Given the description of an element on the screen output the (x, y) to click on. 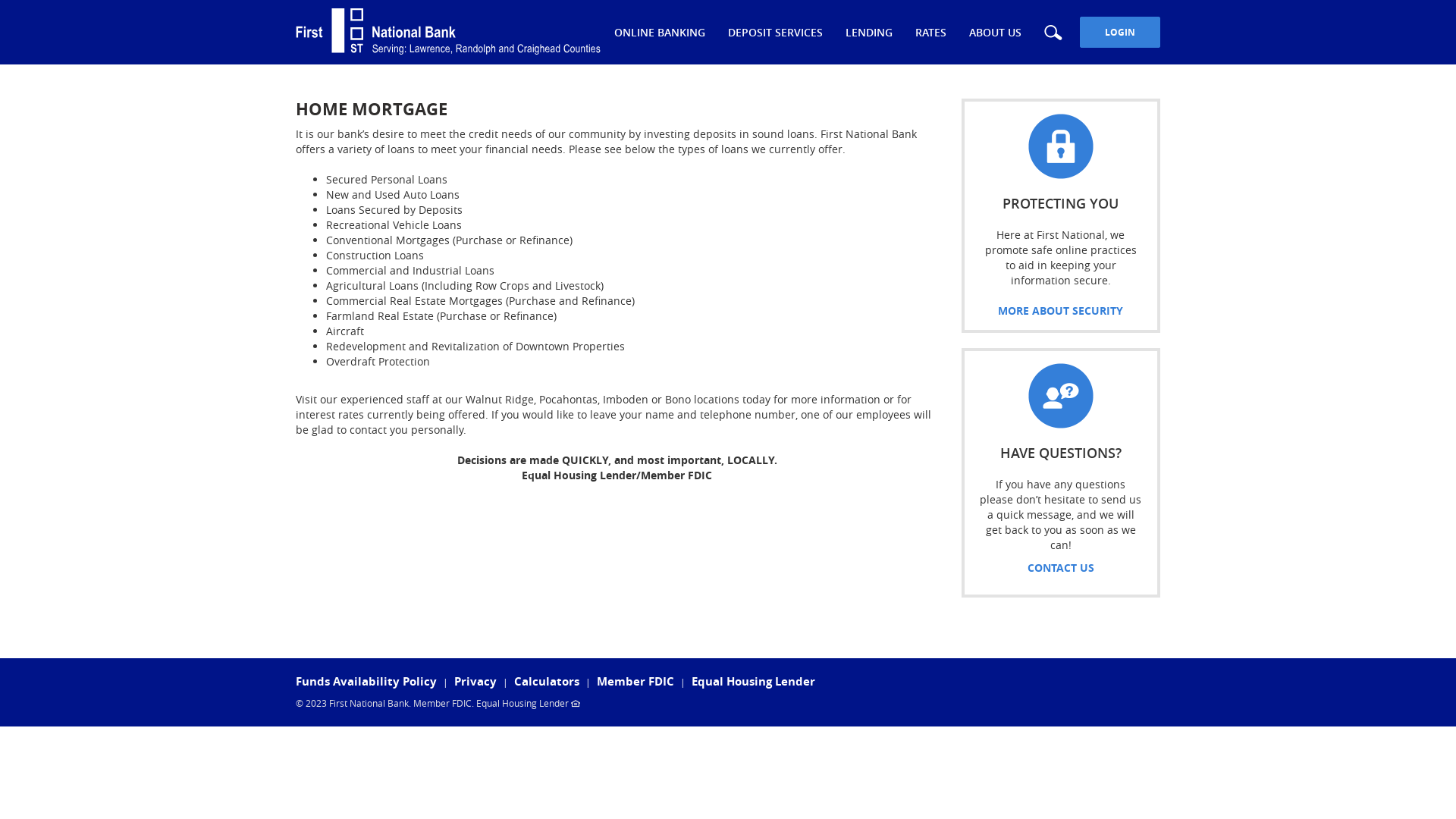
Privacy Element type: text (475, 681)
Calculators Element type: text (546, 681)
Search Element type: text (1052, 31)
MORE ABOUT SECURITY Element type: text (1060, 310)
Equal Housing Lender
(Opens in a new Window) Element type: text (753, 681)
Funds Availability Policy Element type: text (365, 681)
First National Bank, Walnut Ridge, AR Element type: hover (447, 31)
LOGIN Element type: text (1119, 31)
CONTACT US Element type: text (1060, 567)
Member FDIC
(Opens in a new Window) Element type: text (635, 681)
